Given the description of an element on the screen output the (x, y) to click on. 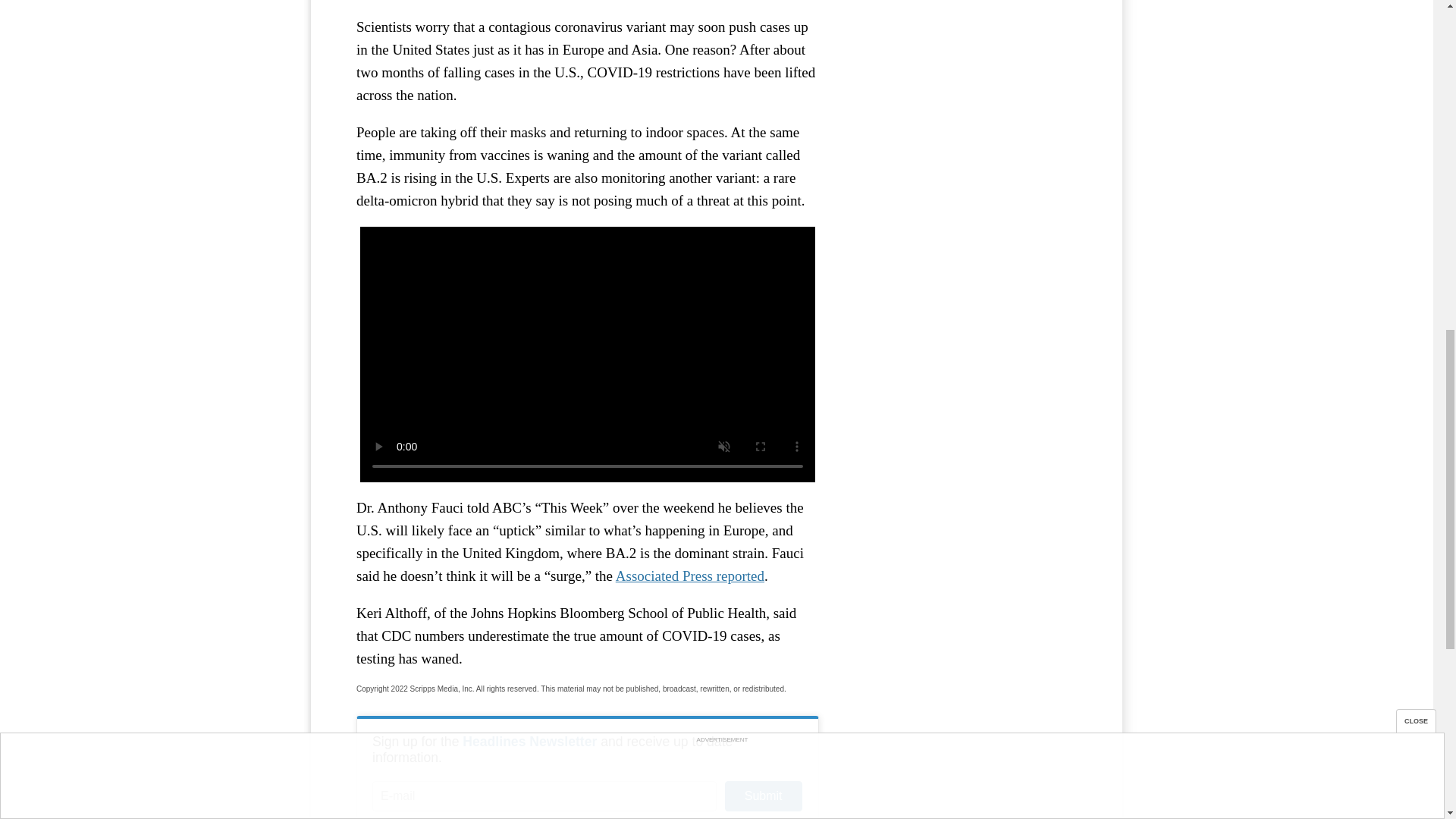
3rd party ad content (962, 97)
Submit (763, 796)
